Given the description of an element on the screen output the (x, y) to click on. 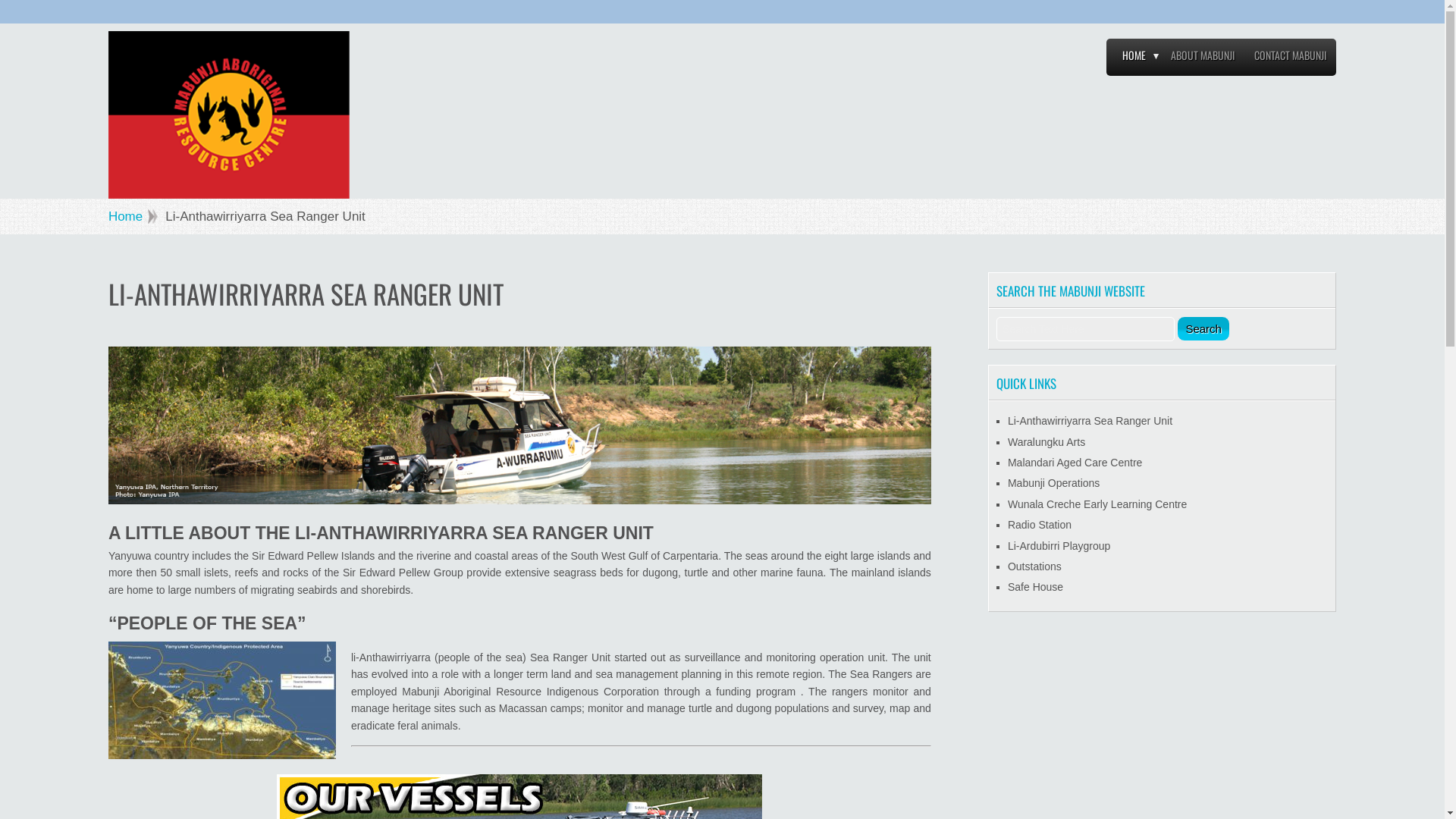
Li-Anthawirriyarra Sea Ranger Unit Element type: text (1089, 420)
HOME Element type: text (1133, 58)
Mabunji Operations Element type: text (1053, 482)
Wunala Creche Early Learning Centre Element type: text (1096, 504)
Malandari Aged Care Centre Element type: text (1074, 462)
Safe House Element type: text (1035, 586)
Waralungku Arts Element type: text (1046, 442)
Home Element type: text (132, 216)
Li-Ardubirri Playgroup Element type: text (1058, 545)
CONTACT MABUNJI Element type: text (1289, 58)
Outstations Element type: text (1034, 566)
ABOUT MABUNJI Element type: text (1202, 58)
Search Element type: text (1203, 328)
Radio Station Element type: text (1039, 524)
